Given the description of an element on the screen output the (x, y) to click on. 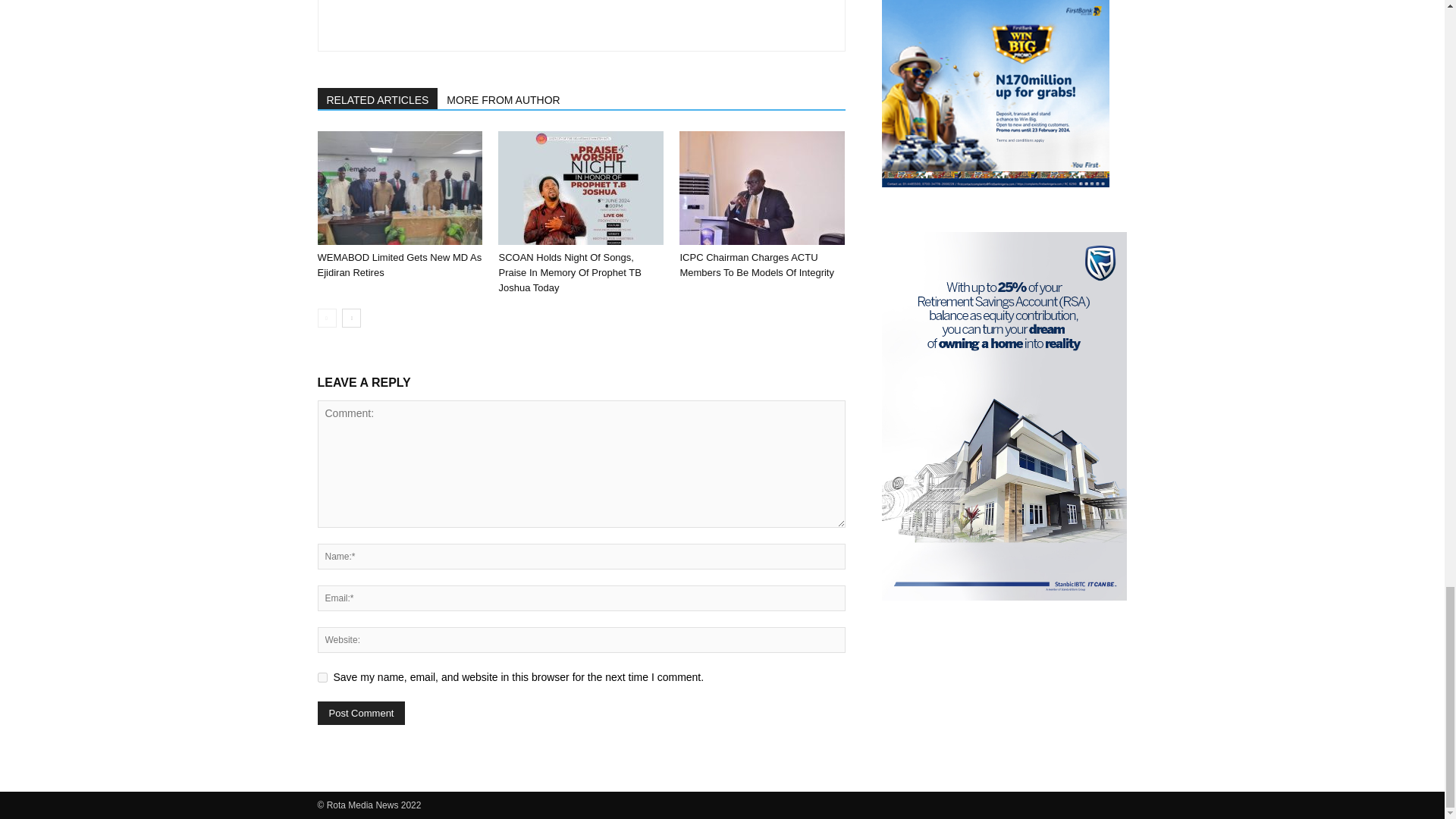
Post Comment (360, 712)
yes (321, 677)
